Given the description of an element on the screen output the (x, y) to click on. 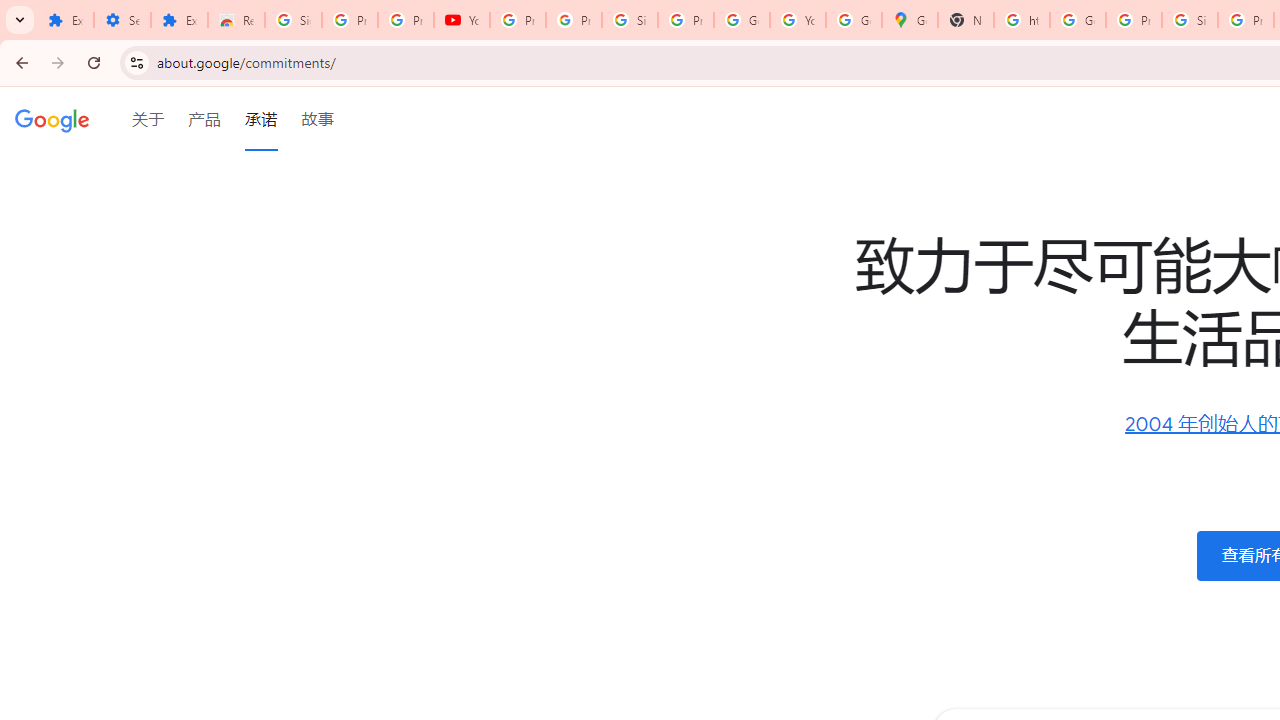
https://scholar.google.com/ (1021, 20)
Settings (122, 20)
Sign in - Google Accounts (1190, 20)
Sign in - Google Accounts (293, 20)
Extensions (65, 20)
Extensions (179, 20)
